Given the description of an element on the screen output the (x, y) to click on. 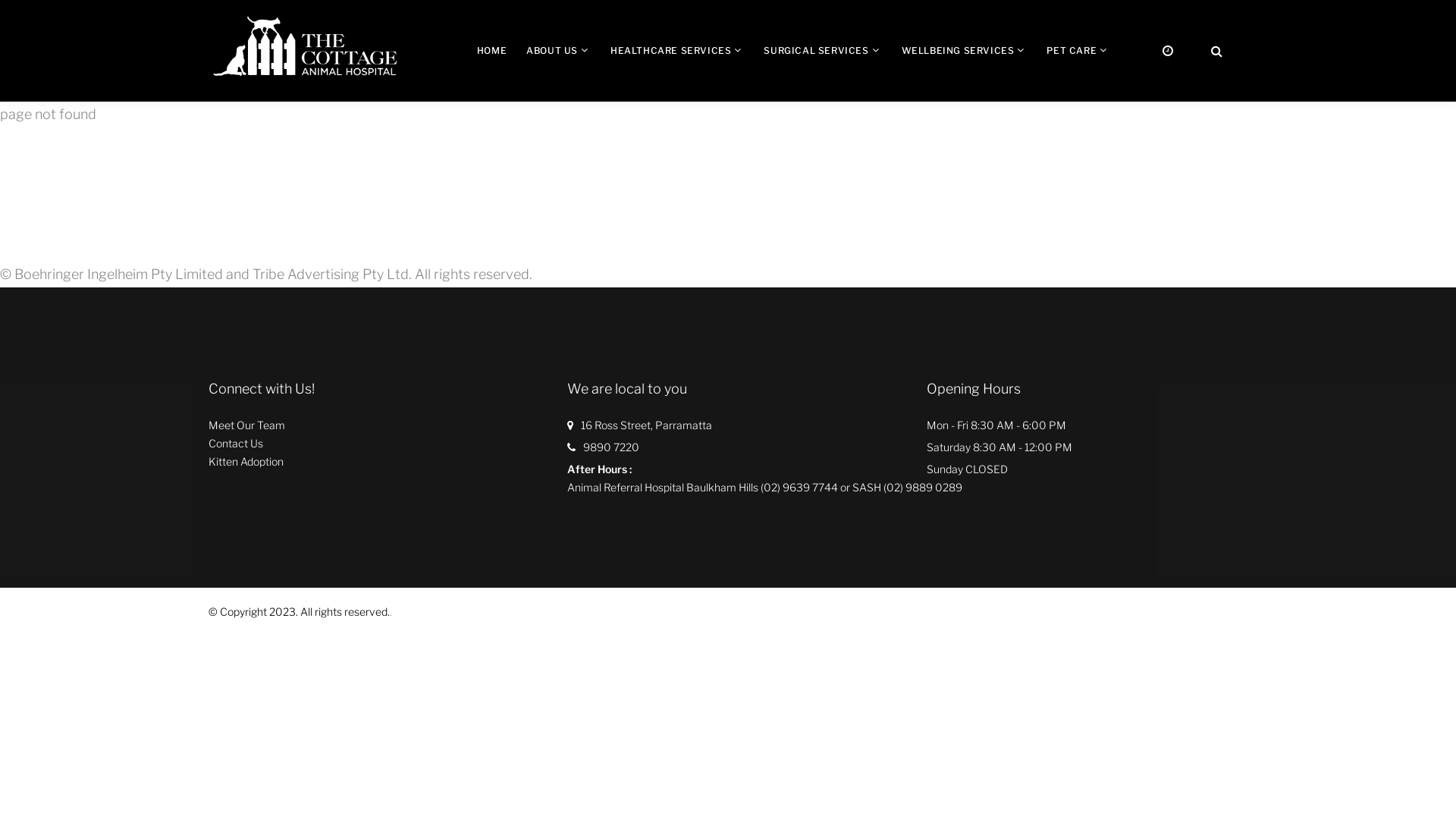
PET CARE Element type: text (1071, 50)
Kitten Adoption Element type: text (245, 461)
SURGICAL SERVICES Element type: text (815, 50)
9890 7220 Element type: text (611, 447)
WELLBEING SERVICES Element type: text (957, 50)
Contact Us Element type: text (235, 443)
HEALTHCARE SERVICES Element type: text (670, 50)
HOME Element type: text (491, 50)
Meet Our Team Element type: text (246, 425)
ABOUT US Element type: text (551, 50)
